Given the description of an element on the screen output the (x, y) to click on. 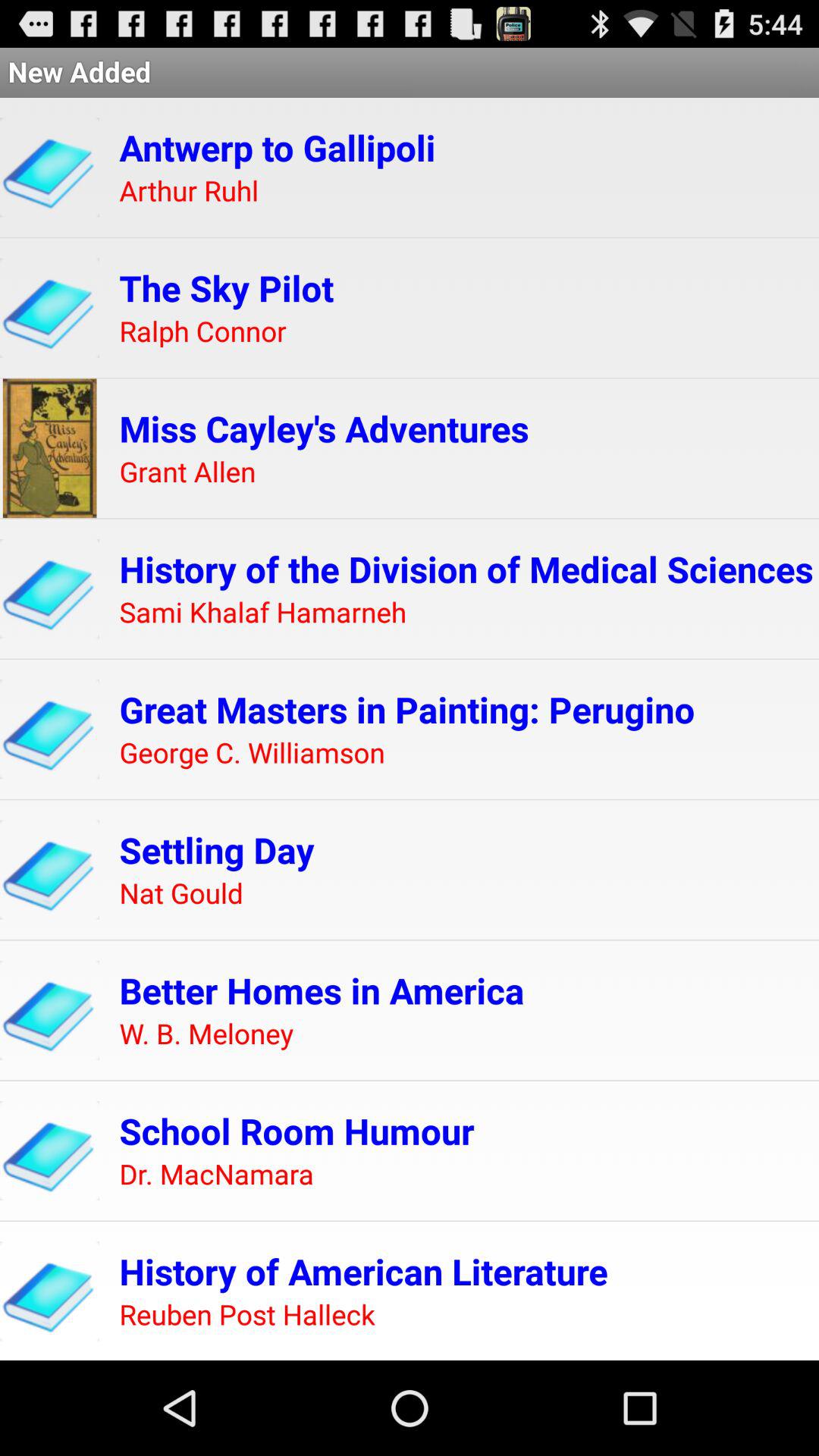
flip until the the sky pilot app (226, 287)
